Given the description of an element on the screen output the (x, y) to click on. 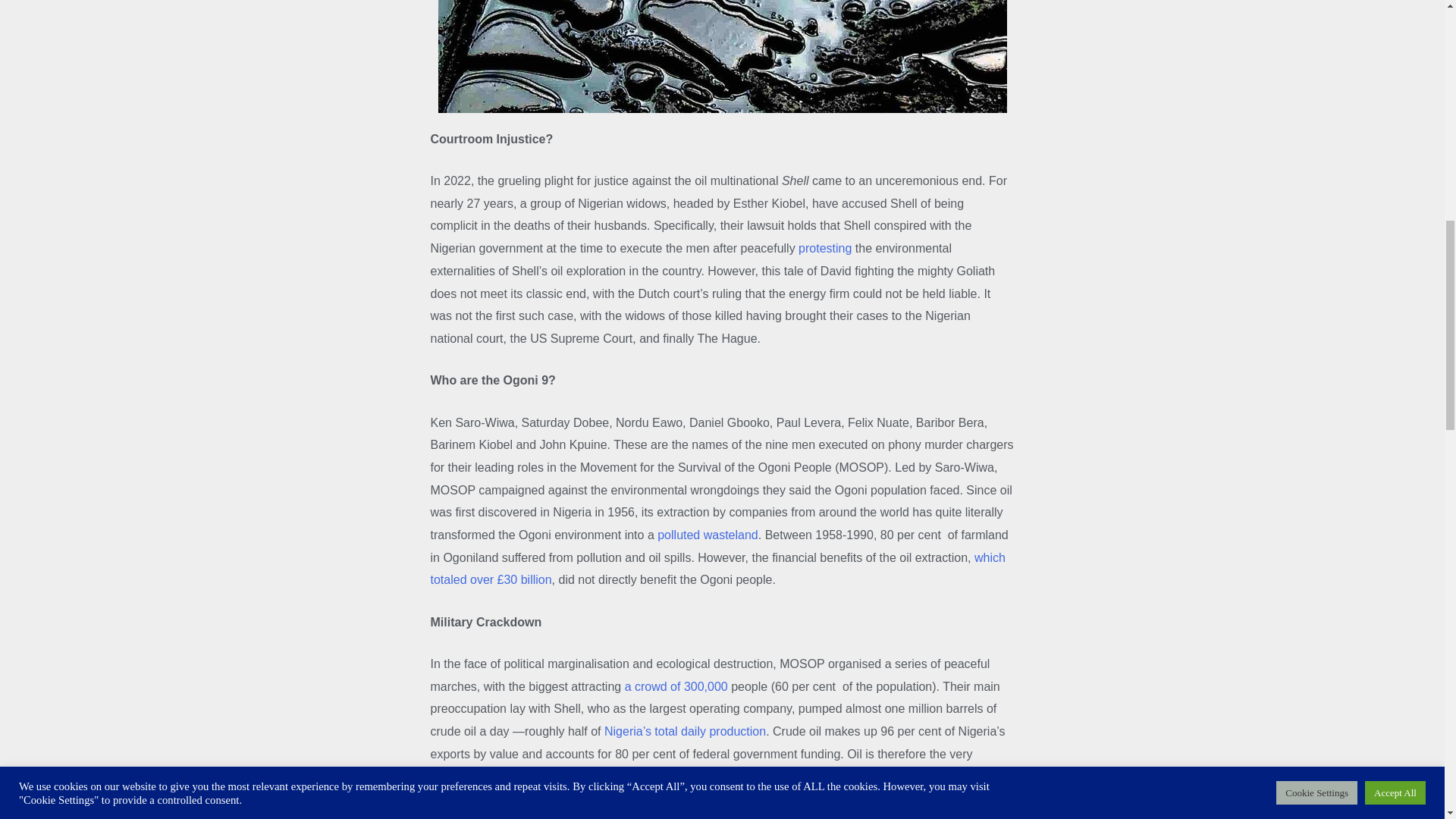
polluted wasteland (708, 534)
a crowd of 300,000 (676, 686)
protesting (824, 247)
